Given the description of an element on the screen output the (x, y) to click on. 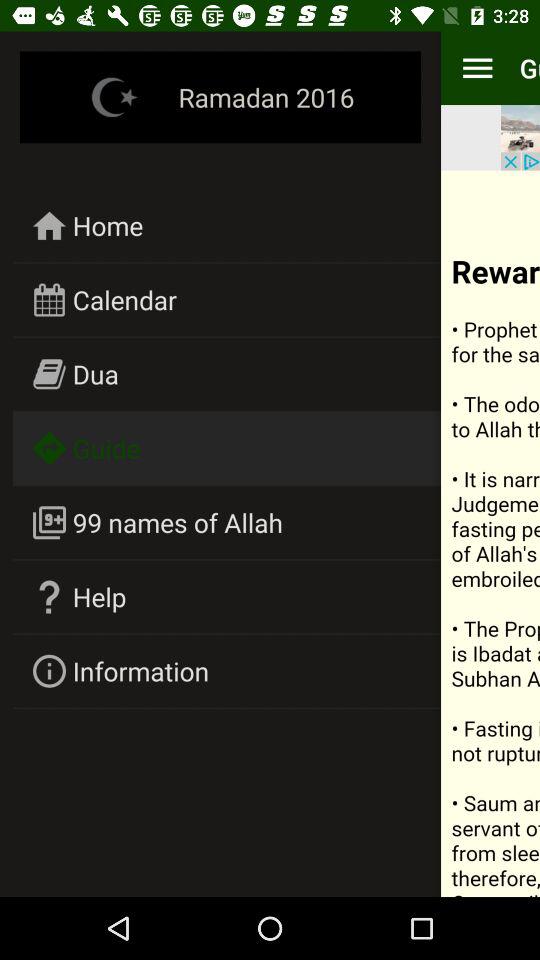
press icon above information icon (99, 596)
